Given the description of an element on the screen output the (x, y) to click on. 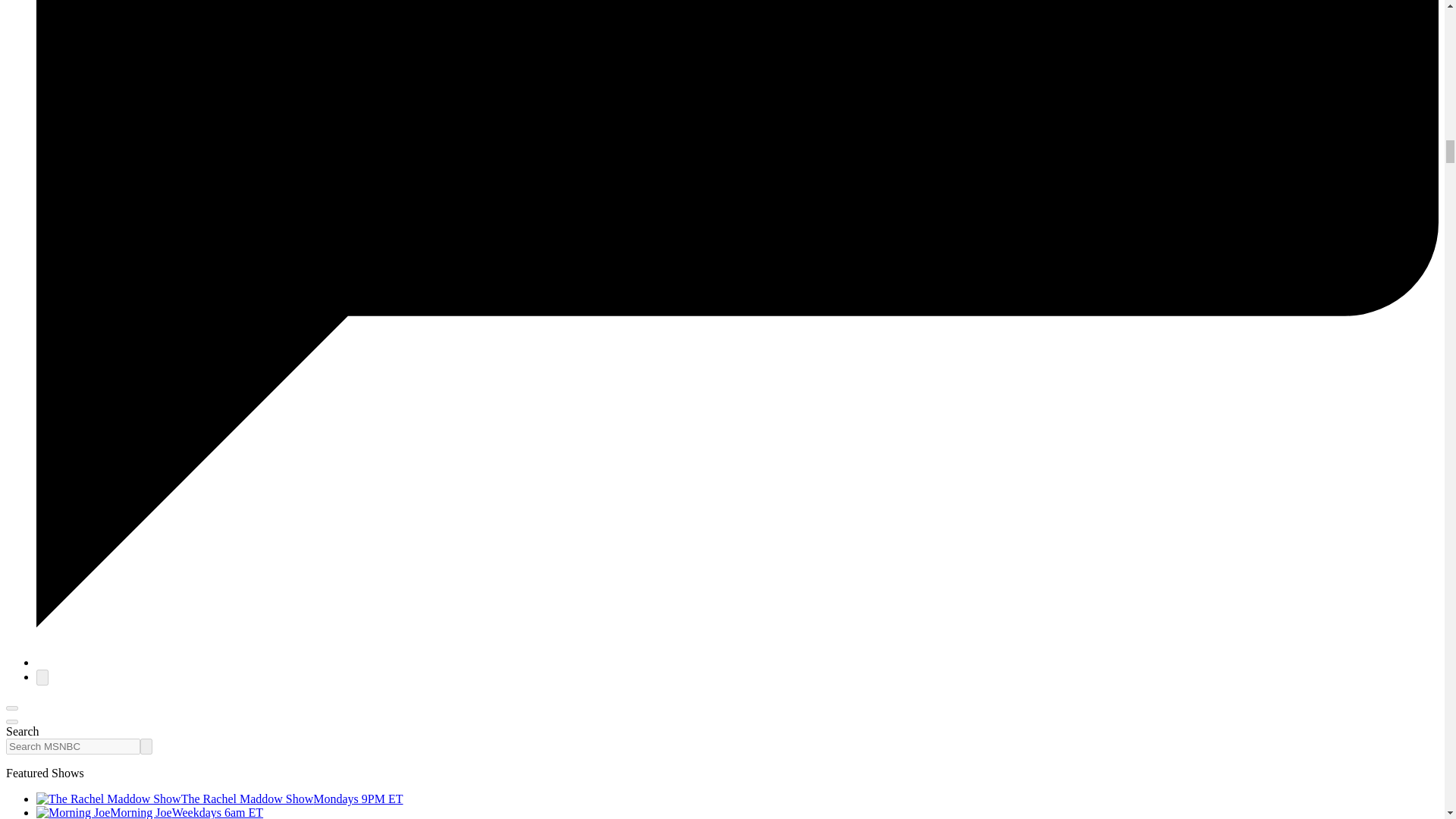
The Rachel Maddow ShowMondays 9PM ET (219, 798)
Morning JoeWeekdays 6am ET (149, 812)
